Given the description of an element on the screen output the (x, y) to click on. 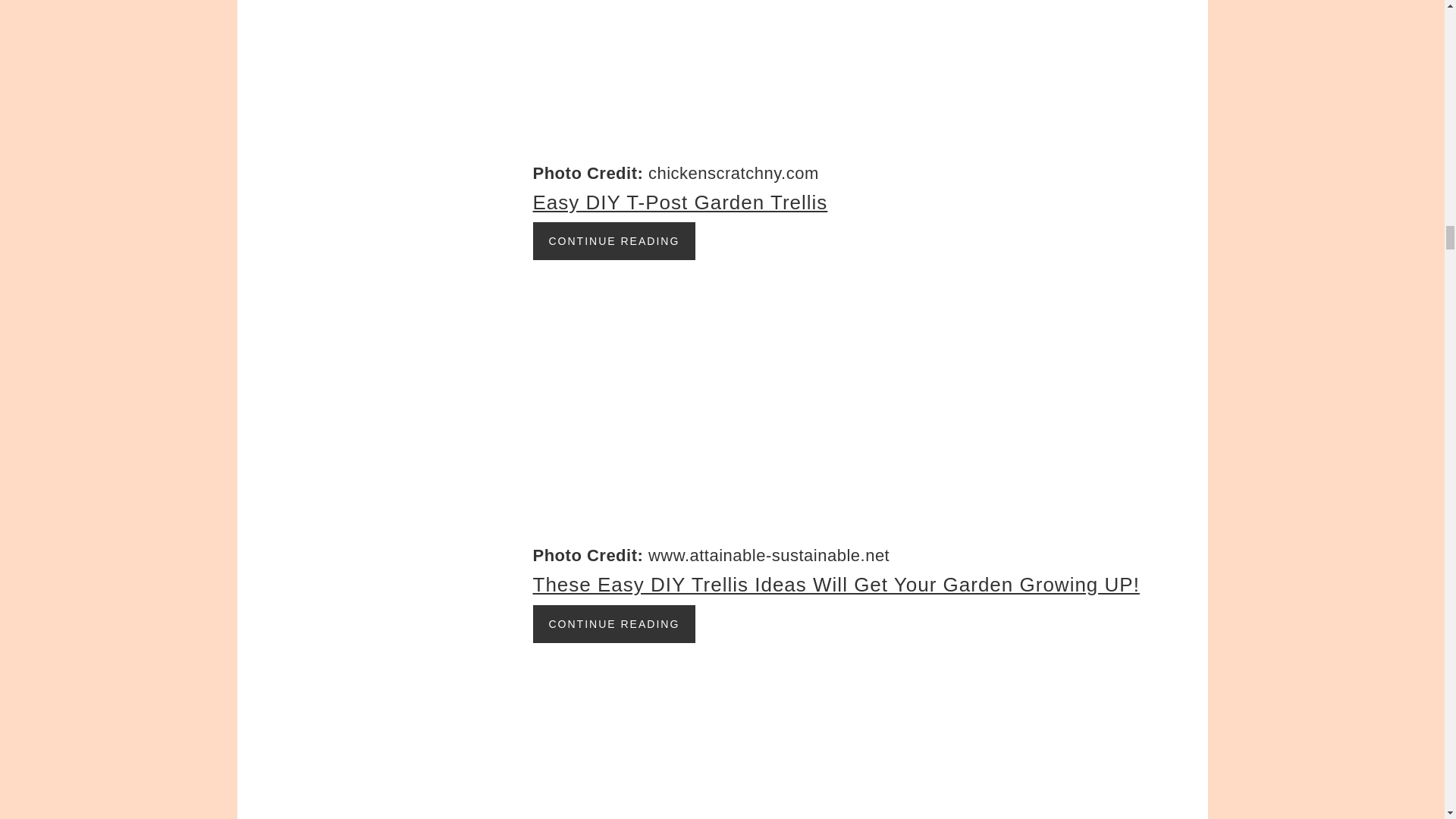
CONTINUE READING (613, 240)
CONTINUE READING (613, 623)
Easy DIY T-Post Garden Trellis (679, 201)
